Given the description of an element on the screen output the (x, y) to click on. 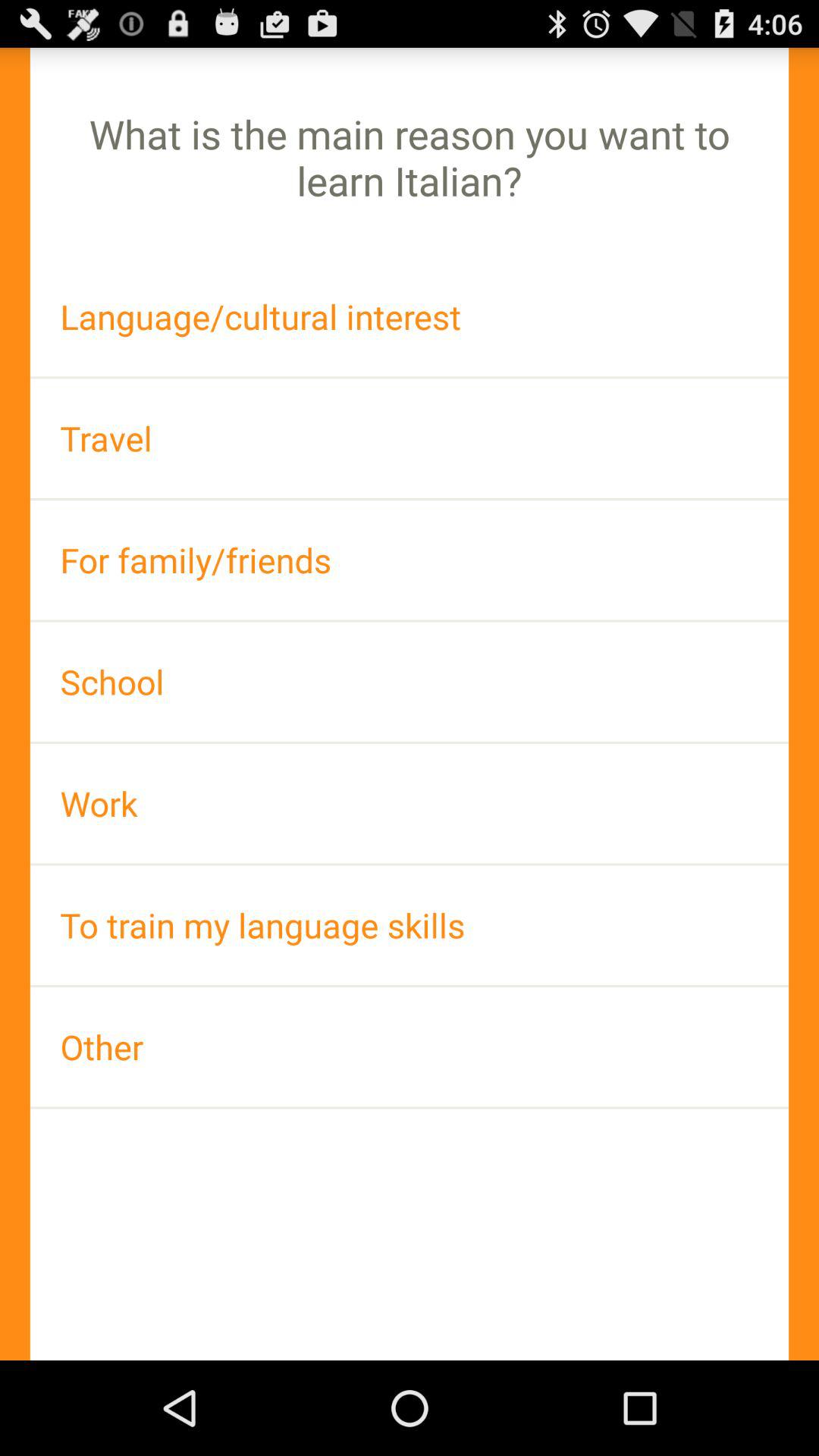
select app below the school icon (409, 803)
